Given the description of an element on the screen output the (x, y) to click on. 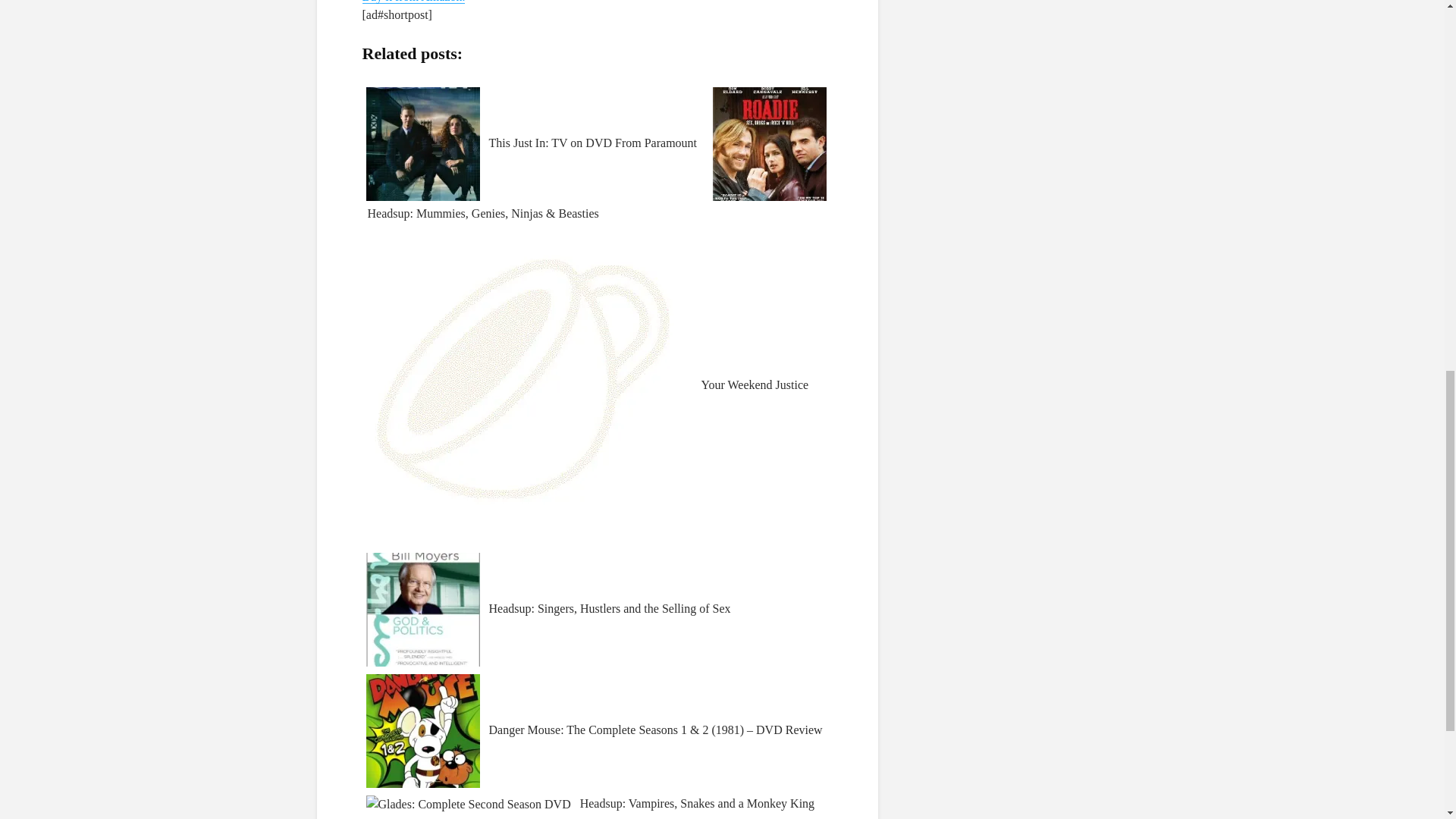
Buy it from Amazon. (413, 2)
Headsup: Singers, Hustlers and the Selling of Sex (549, 608)
Headsup: Vampires, Snakes and a Monkey King (596, 807)
This Just In: TV on DVD From Paramount (532, 142)
Headsup: Singers, Hustlers and the Selling of Sex (549, 608)
Your Weekend Justice (587, 384)
Headsup: Vampires, Snakes and a Monkey King (596, 807)
This Just In: TV on DVD From Paramount (532, 142)
Your Weekend Justice (587, 384)
